Given the description of an element on the screen output the (x, y) to click on. 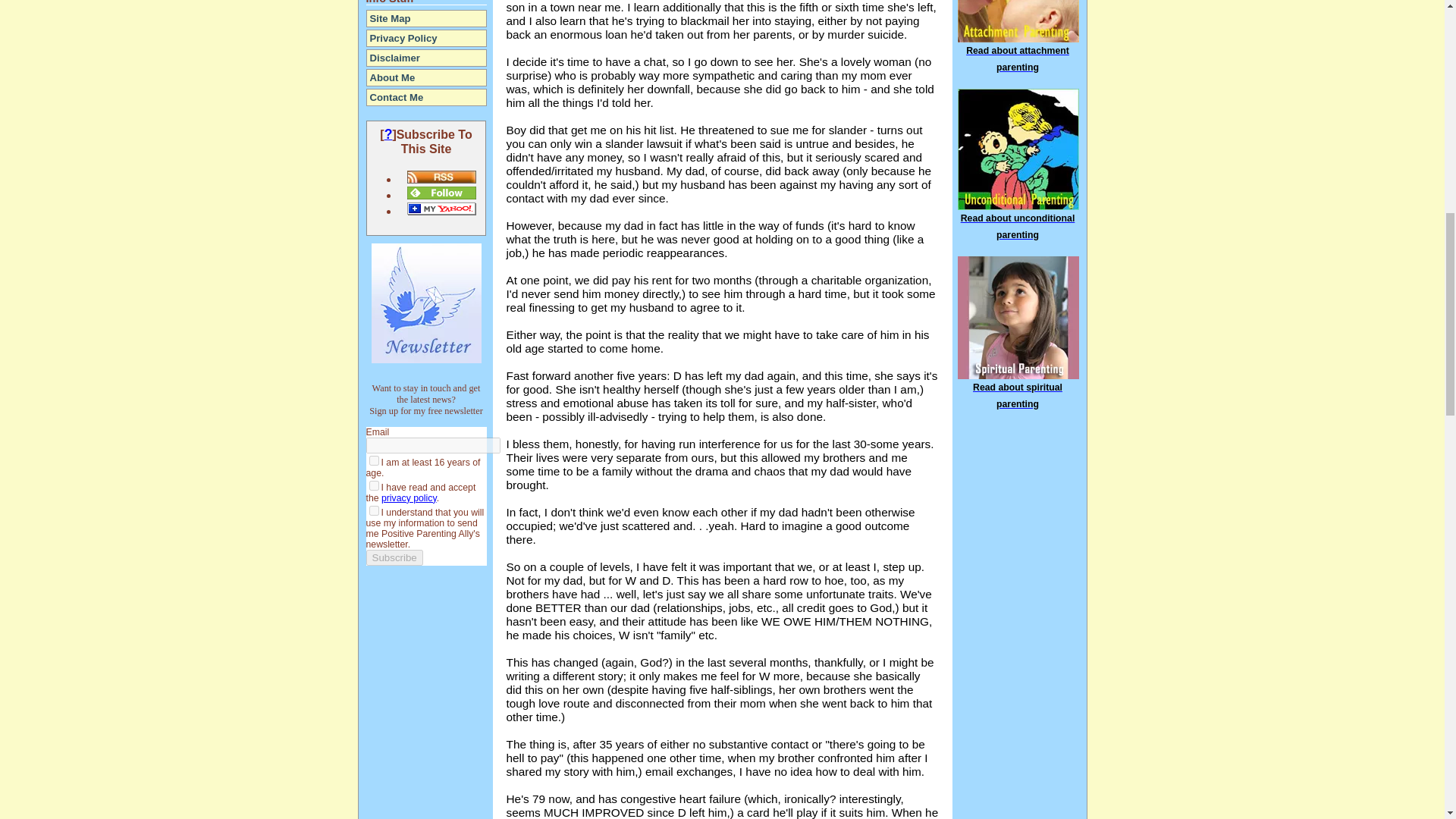
on (373, 460)
Site Map (426, 18)
on (373, 510)
Privacy Policy (426, 37)
Disclaimer (426, 57)
on (373, 485)
